Given the description of an element on the screen output the (x, y) to click on. 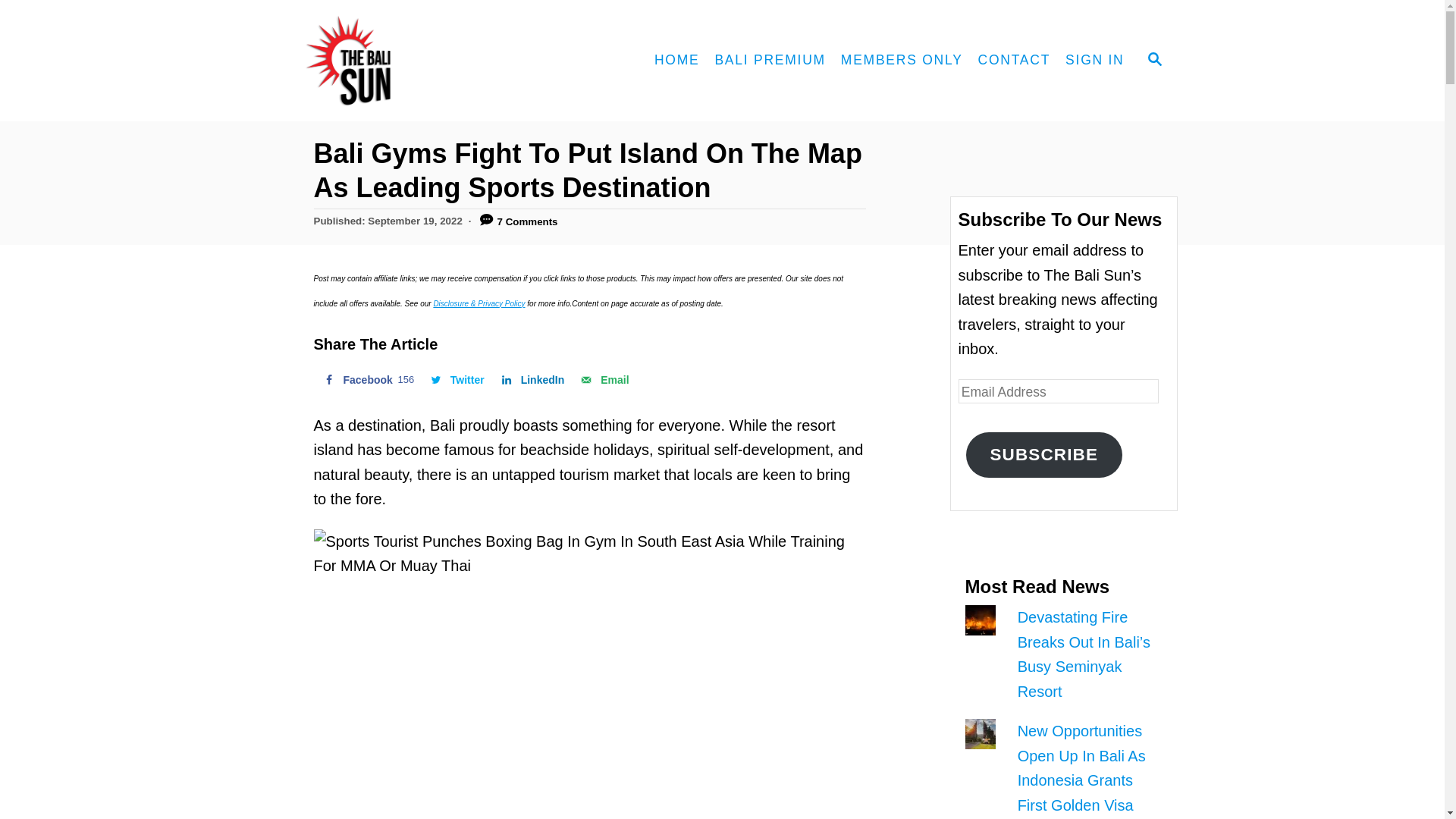
CONTACT (1014, 60)
SEARCH (1153, 60)
Share on Twitter (456, 379)
Share on Facebook (367, 379)
MEMBERS ONLY (901, 60)
The Bali Sun (403, 60)
Share on LinkedIn (532, 379)
Twitter (456, 379)
LinkedIn (532, 379)
Email (367, 379)
Send over email (602, 379)
SIGN IN (602, 379)
HOME (1094, 60)
